Given the description of an element on the screen output the (x, y) to click on. 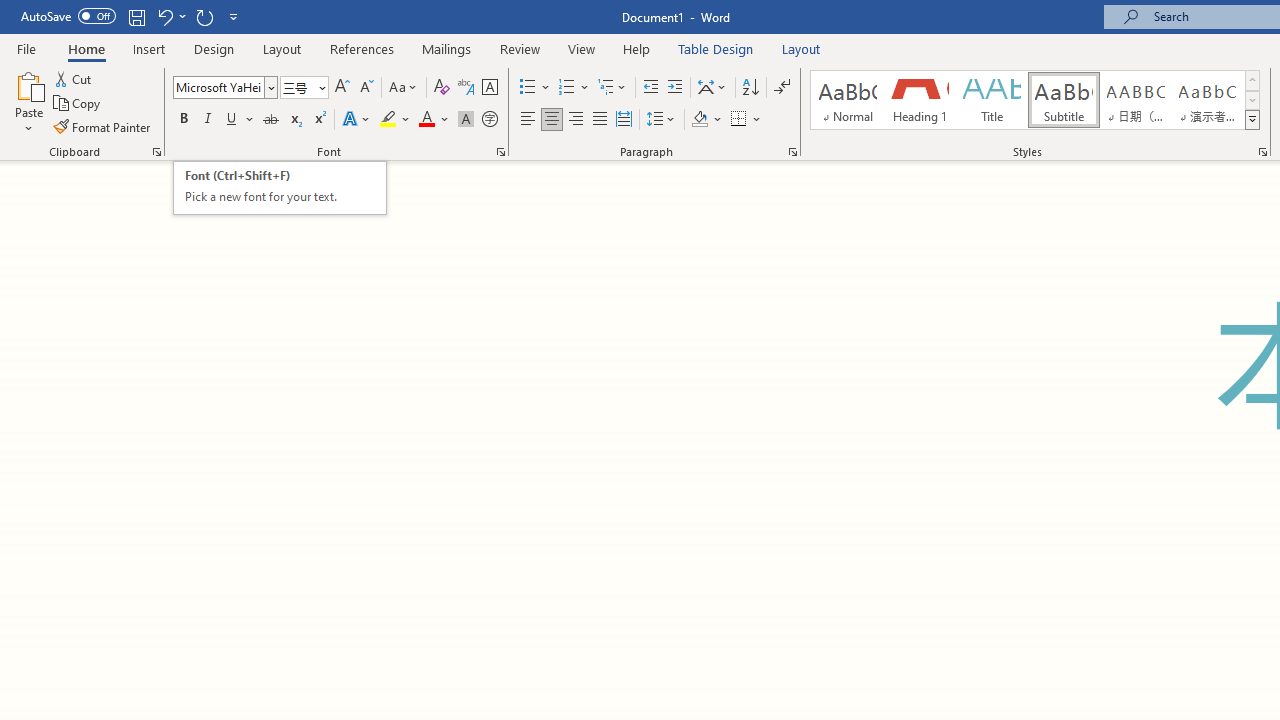
Title (991, 100)
Heading 1 (920, 100)
